Given the description of an element on the screen output the (x, y) to click on. 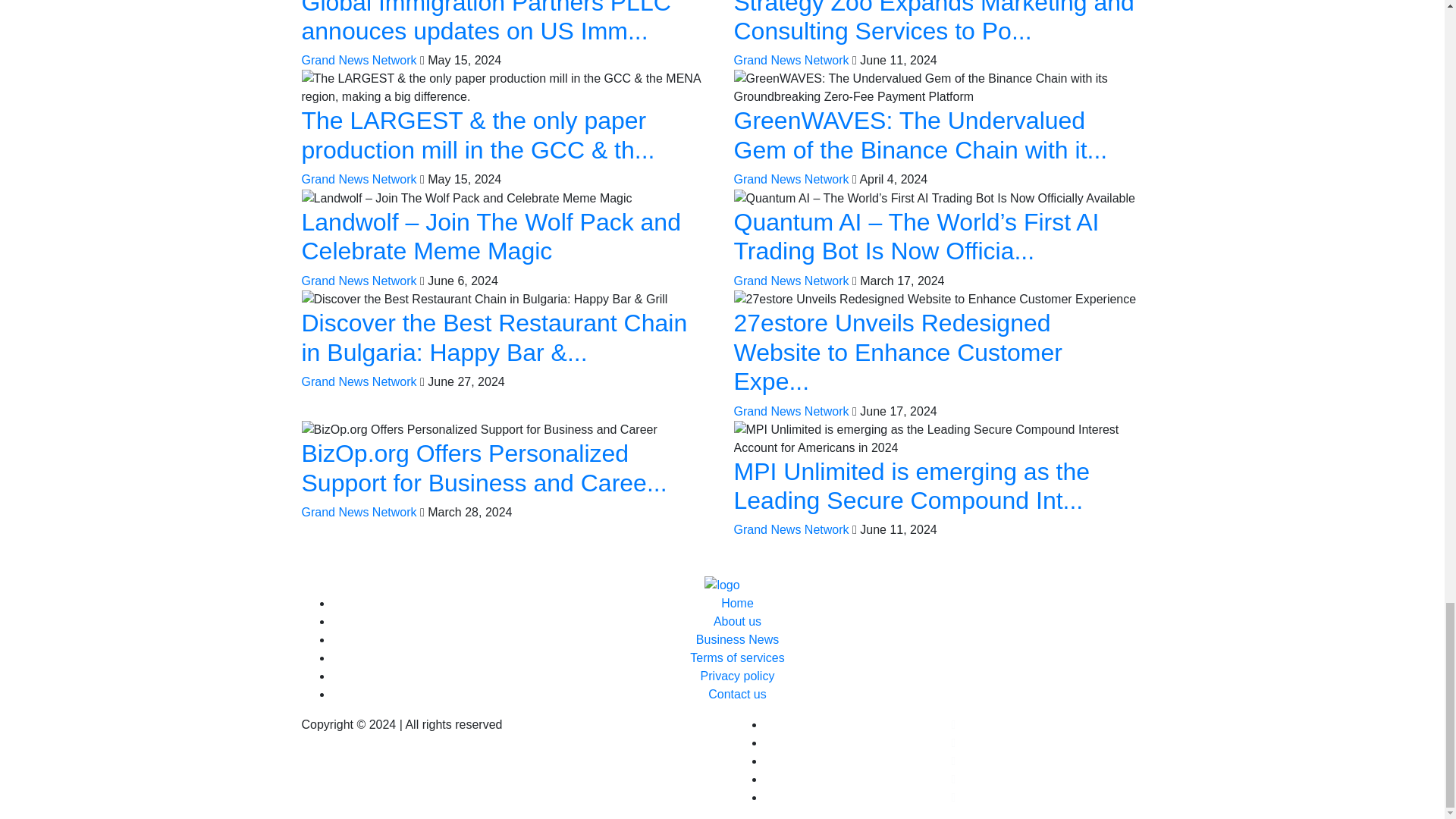
Grand News Network (790, 60)
Grand News Network (358, 381)
Grand News Network (790, 280)
Grand News Network (358, 512)
About us (737, 621)
Home (737, 603)
pinterest (954, 779)
Grand News Network (790, 410)
Grand News Network (358, 280)
Grand News Network (358, 178)
facebook (954, 724)
Grand News Network (790, 178)
